Given the description of an element on the screen output the (x, y) to click on. 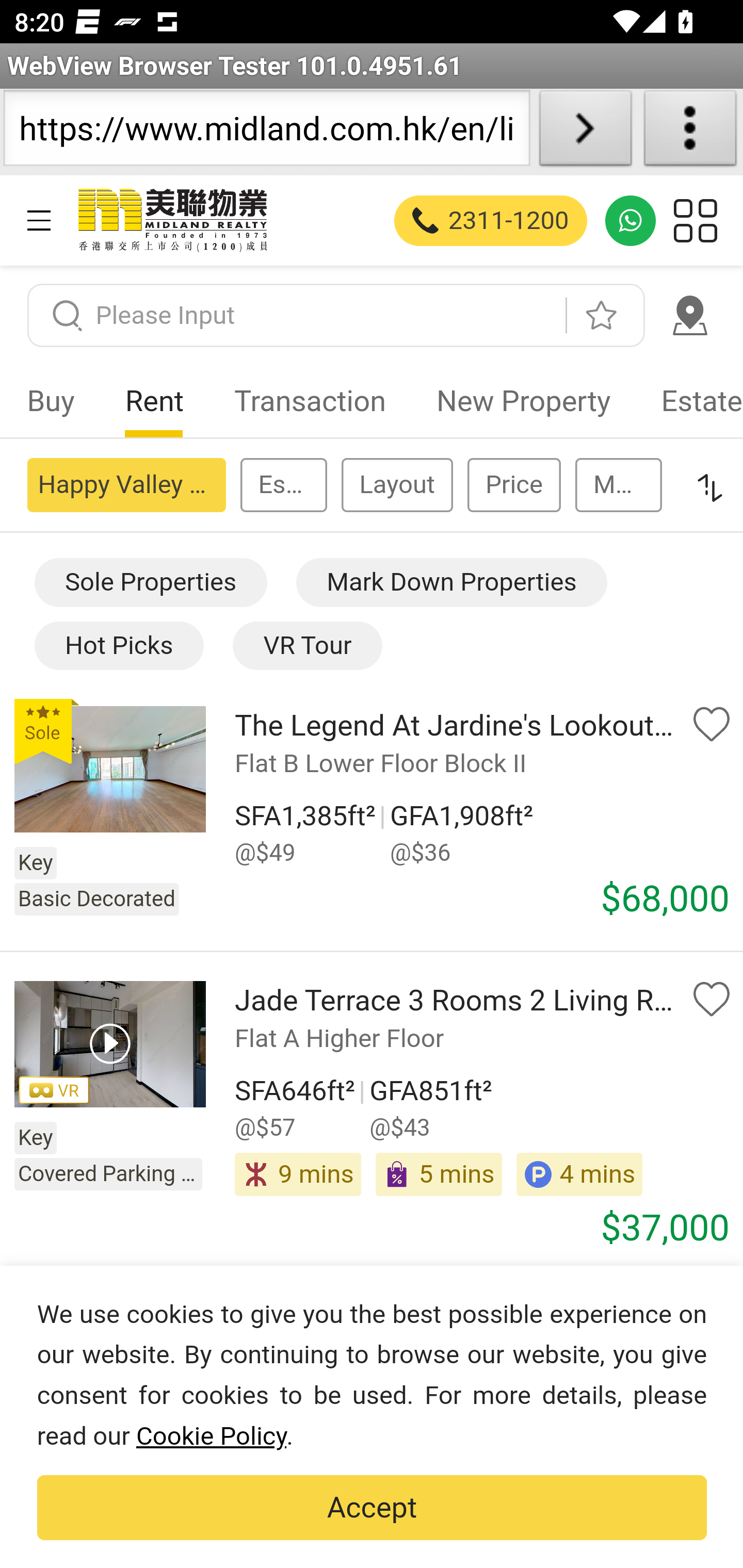
Load URL (585, 132)
About WebView (690, 132)
Midland Realty - Property Agency in Hong Kong (171, 220)
2311-1200 (490, 219)
WhatsApp: 2311-1200 (630, 219)
Map Search (689, 314)
Buy (50, 401)
Rent (154, 401)
Transaction (310, 401)
New Property (523, 401)
Estate (689, 401)
Cookie Policy (210, 1435)
Accept (372, 1508)
